Given the description of an element on the screen output the (x, y) to click on. 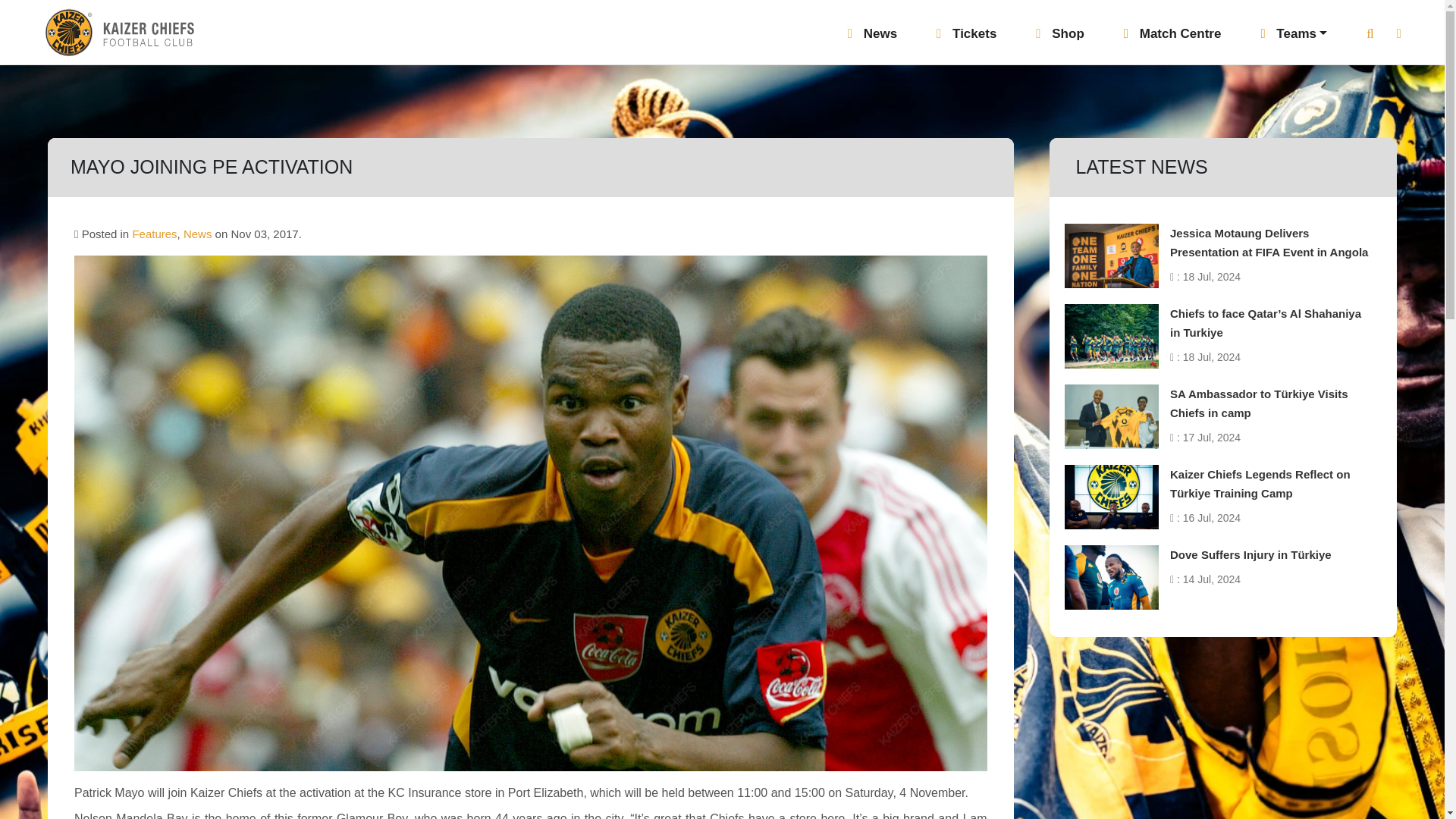
Tickets (965, 38)
Shop (1059, 38)
Teams (1293, 38)
News (871, 38)
Match Centre (1172, 38)
